Given the description of an element on the screen output the (x, y) to click on. 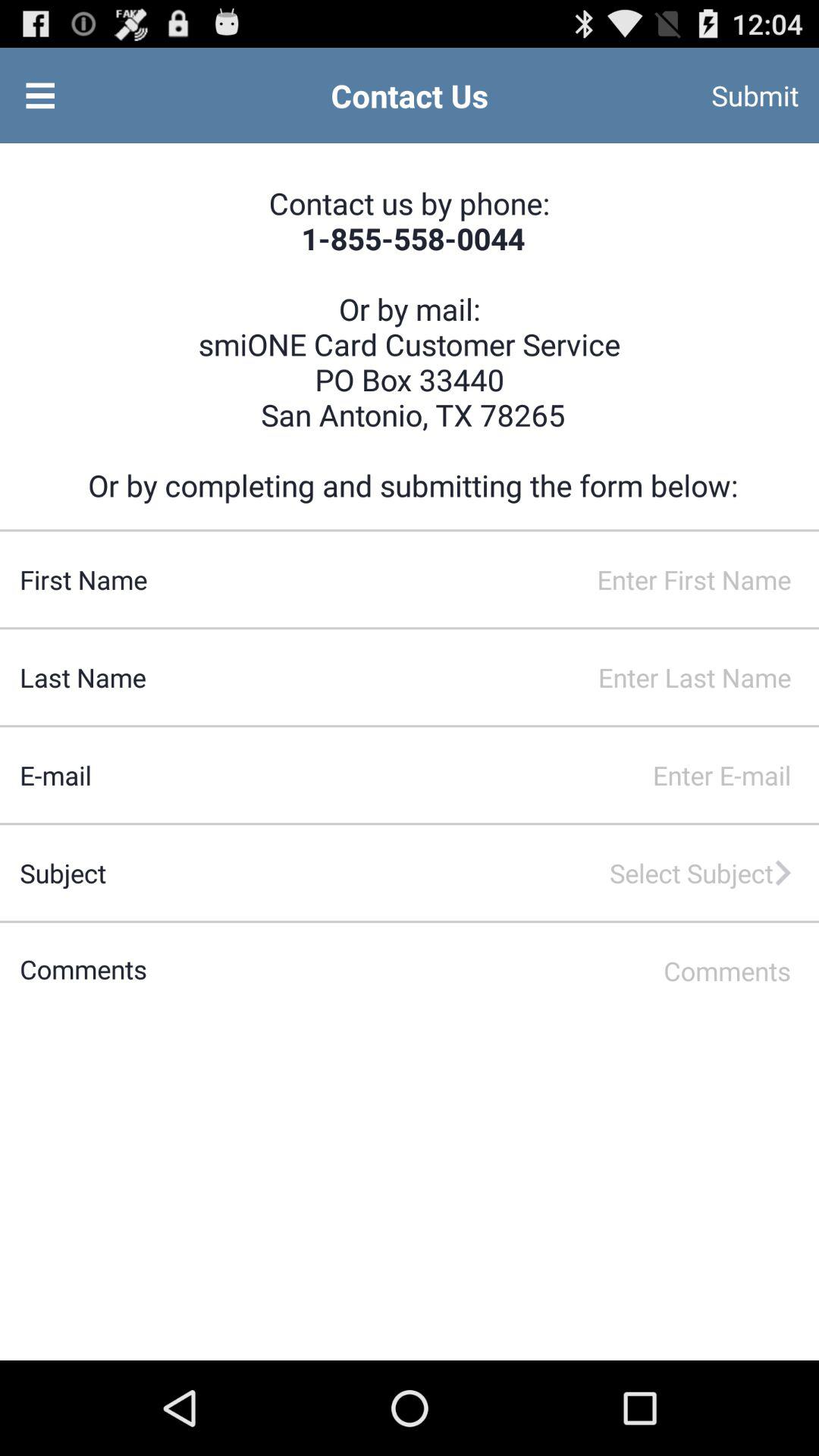
selects the subject (452, 872)
